Given the description of an element on the screen output the (x, y) to click on. 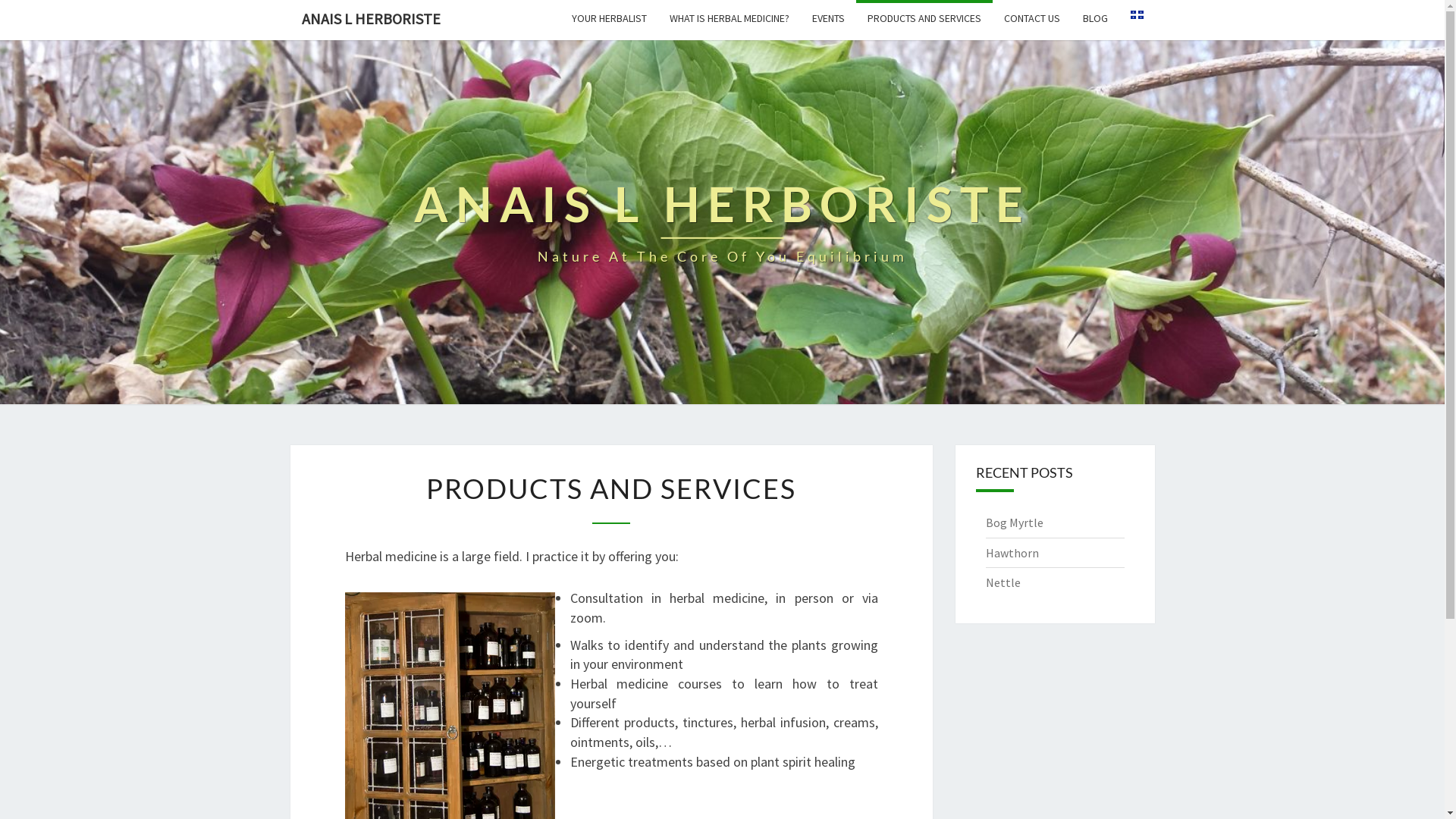
CONTACT US Element type: text (1030, 18)
EVENTS Element type: text (828, 18)
YOUR HERBALIST Element type: text (608, 18)
Hawthorn Element type: text (1011, 552)
ANAIS L HERBORISTE
Nature At The Core Of You Equilibrium Element type: text (722, 221)
ANAIS L HERBORISTE Element type: text (370, 18)
Bog Myrtle Element type: text (1014, 522)
PRODUCTS AND SERVICES Element type: text (923, 18)
Nettle Element type: text (1002, 581)
BLOG Element type: text (1094, 18)
WHAT IS HERBAL MEDICINE? Element type: text (729, 18)
